Given the description of an element on the screen output the (x, y) to click on. 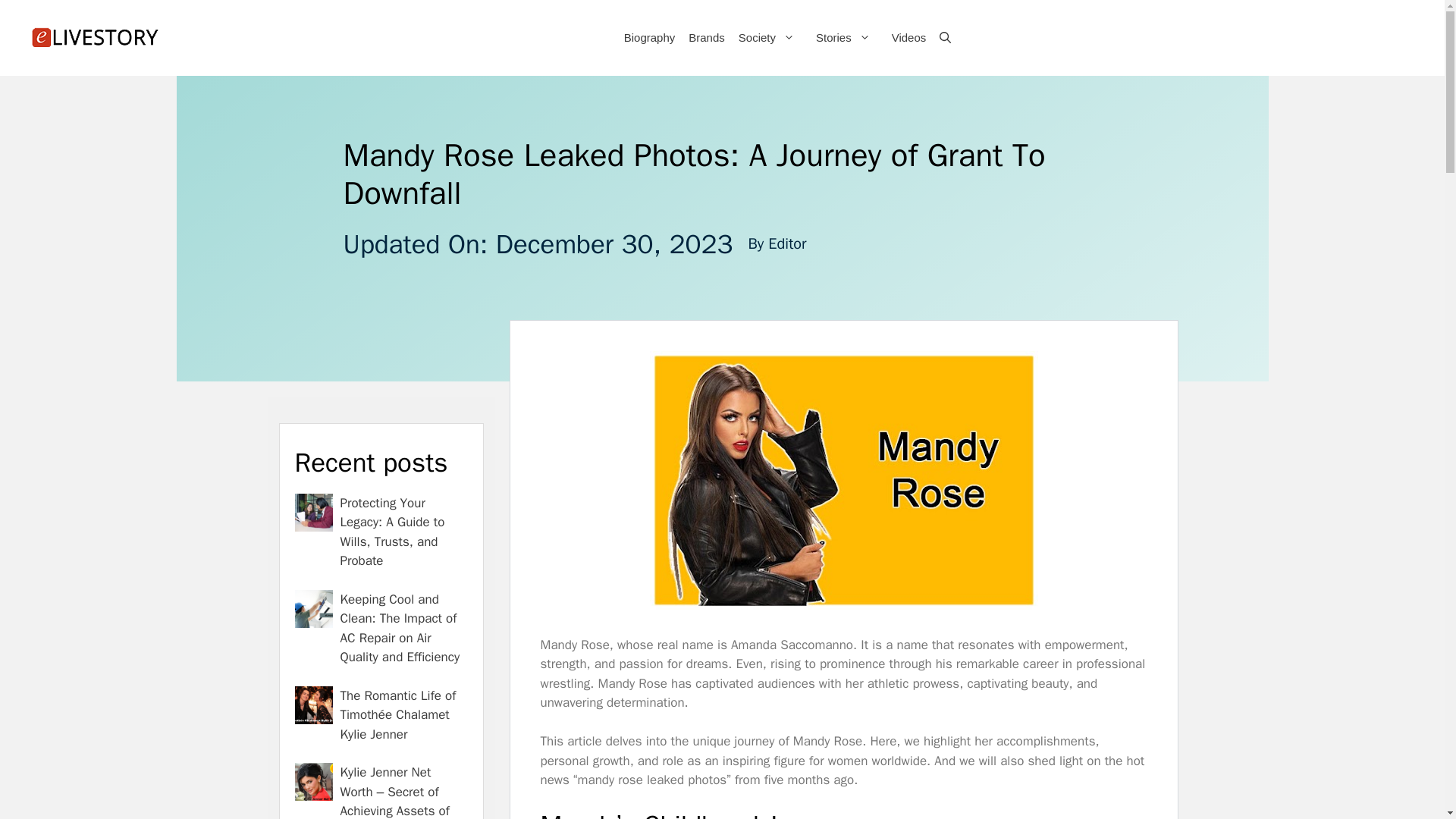
Stories (845, 37)
Videos (908, 37)
Brands (705, 37)
Biography (648, 37)
Society (769, 37)
